Given the description of an element on the screen output the (x, y) to click on. 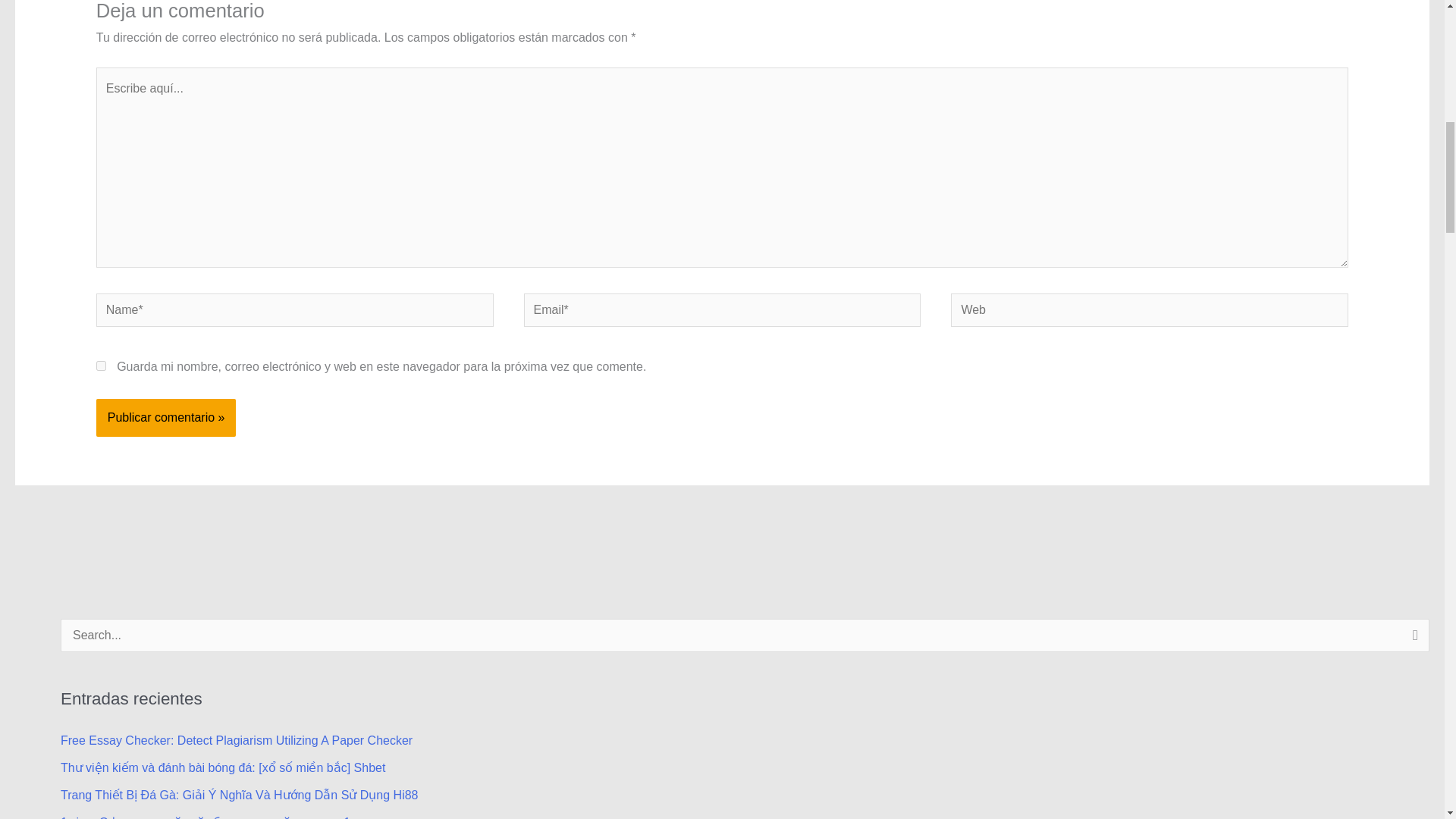
yes (101, 366)
